Given the description of an element on the screen output the (x, y) to click on. 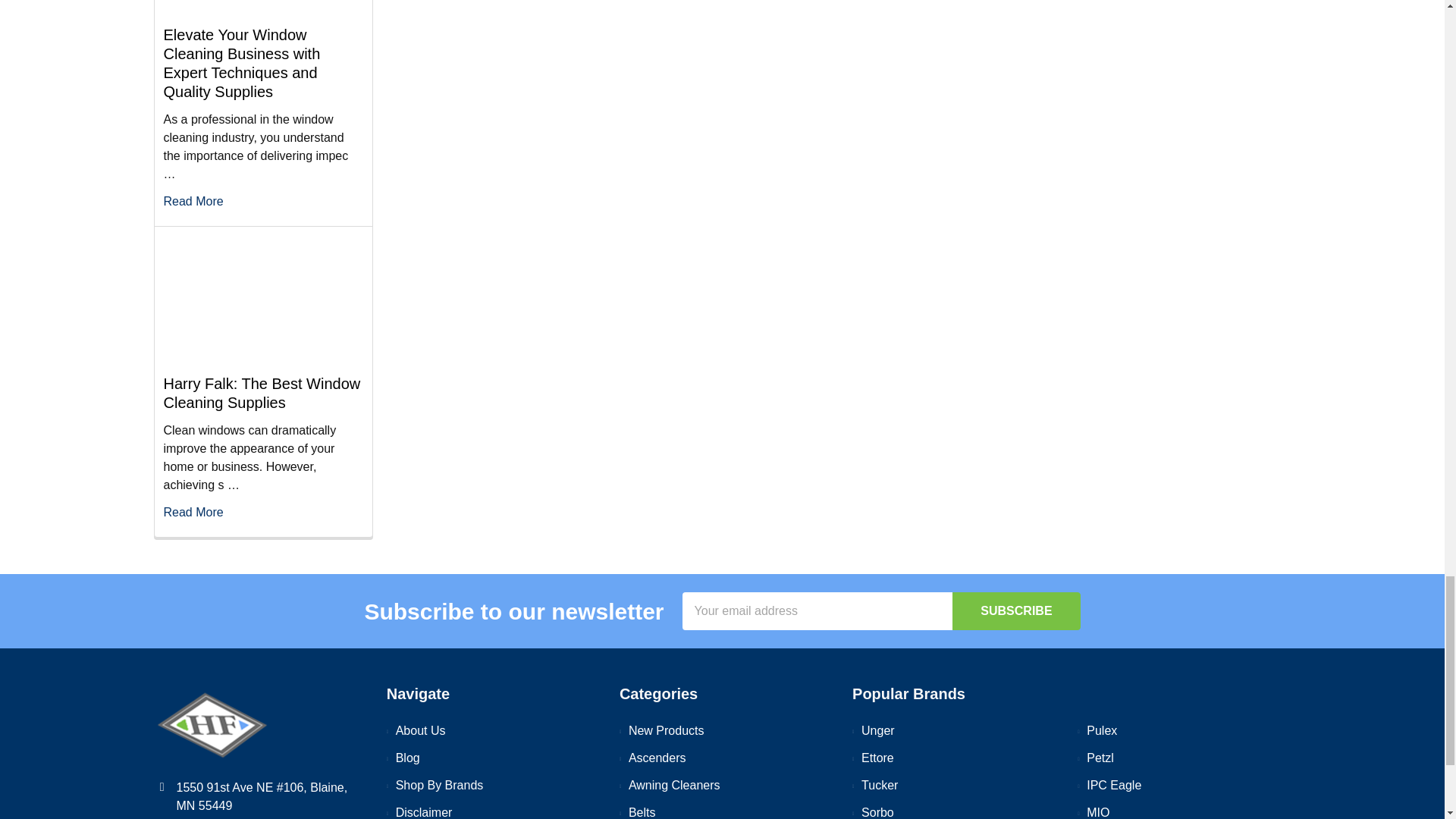
Harry Falk: The Best Window Cleaning Supplies (262, 298)
Subscribe (1016, 610)
